Given the description of an element on the screen output the (x, y) to click on. 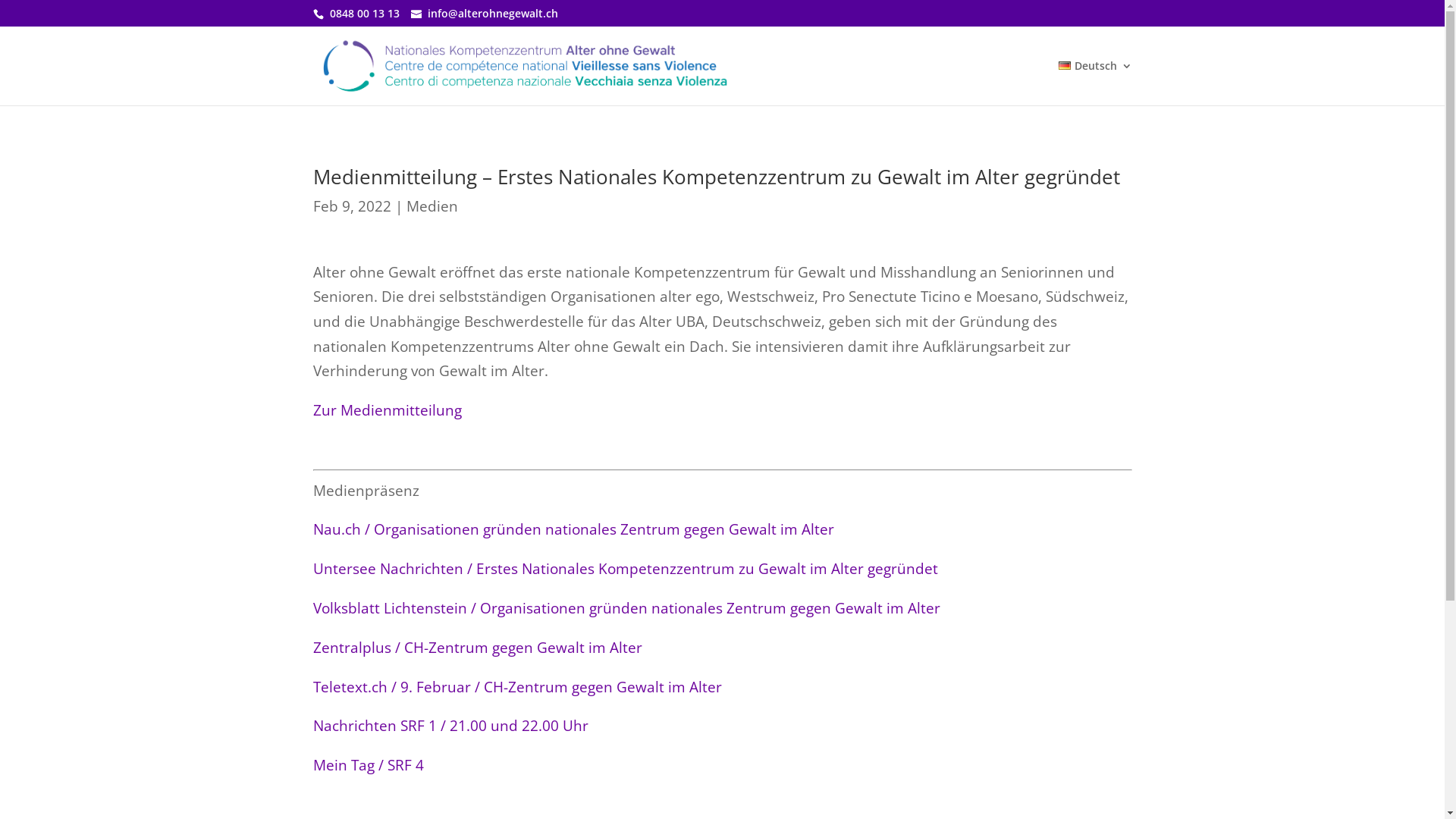
Zur Medienmitteilung Element type: text (386, 409)
Deutsch Element type: text (1094, 82)
info@alterohnegewalt.ch Element type: text (492, 13)
Mein Tag / SRF 4 Element type: text (367, 764)
Nachrichten SRF 1 / 21.00 und 22.00 Uhr Element type: text (449, 725)
Zentralplus / CH-Zentrum gegen Gewalt im Alter Element type: text (476, 647)
Medien Element type: text (432, 205)
Teletext.ch / 9. Februar / CH-Zentrum gegen Gewalt im Alter Element type: text (516, 686)
